Given the description of an element on the screen output the (x, y) to click on. 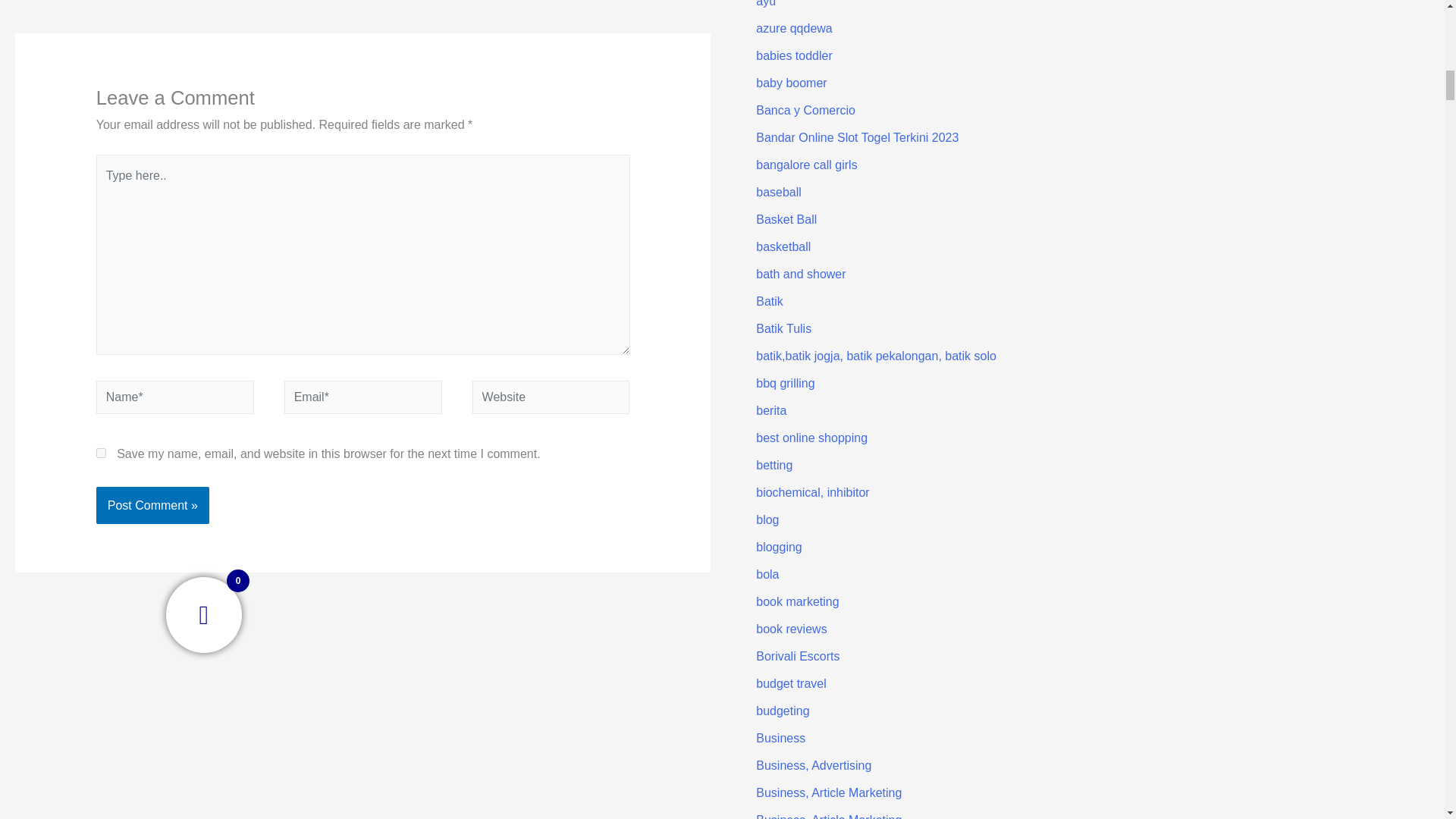
yes (101, 452)
